Given the description of an element on the screen output the (x, y) to click on. 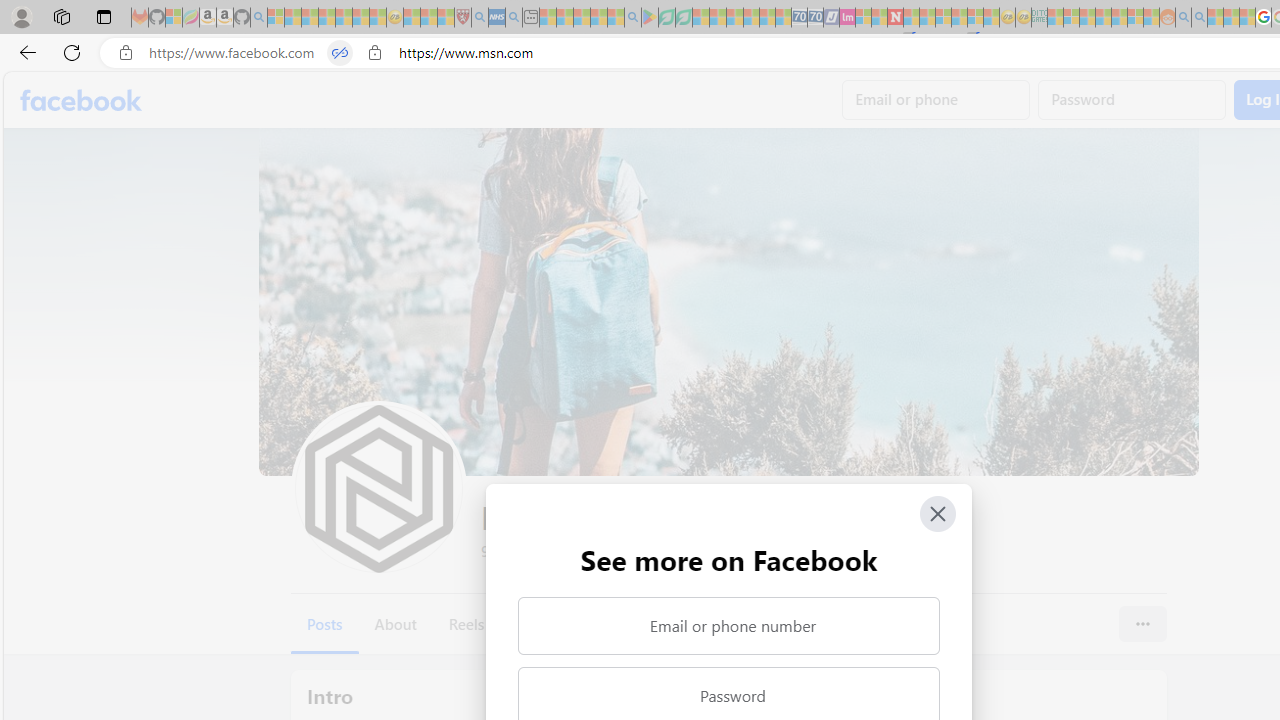
Facebook (81, 99)
